Given the description of an element on the screen output the (x, y) to click on. 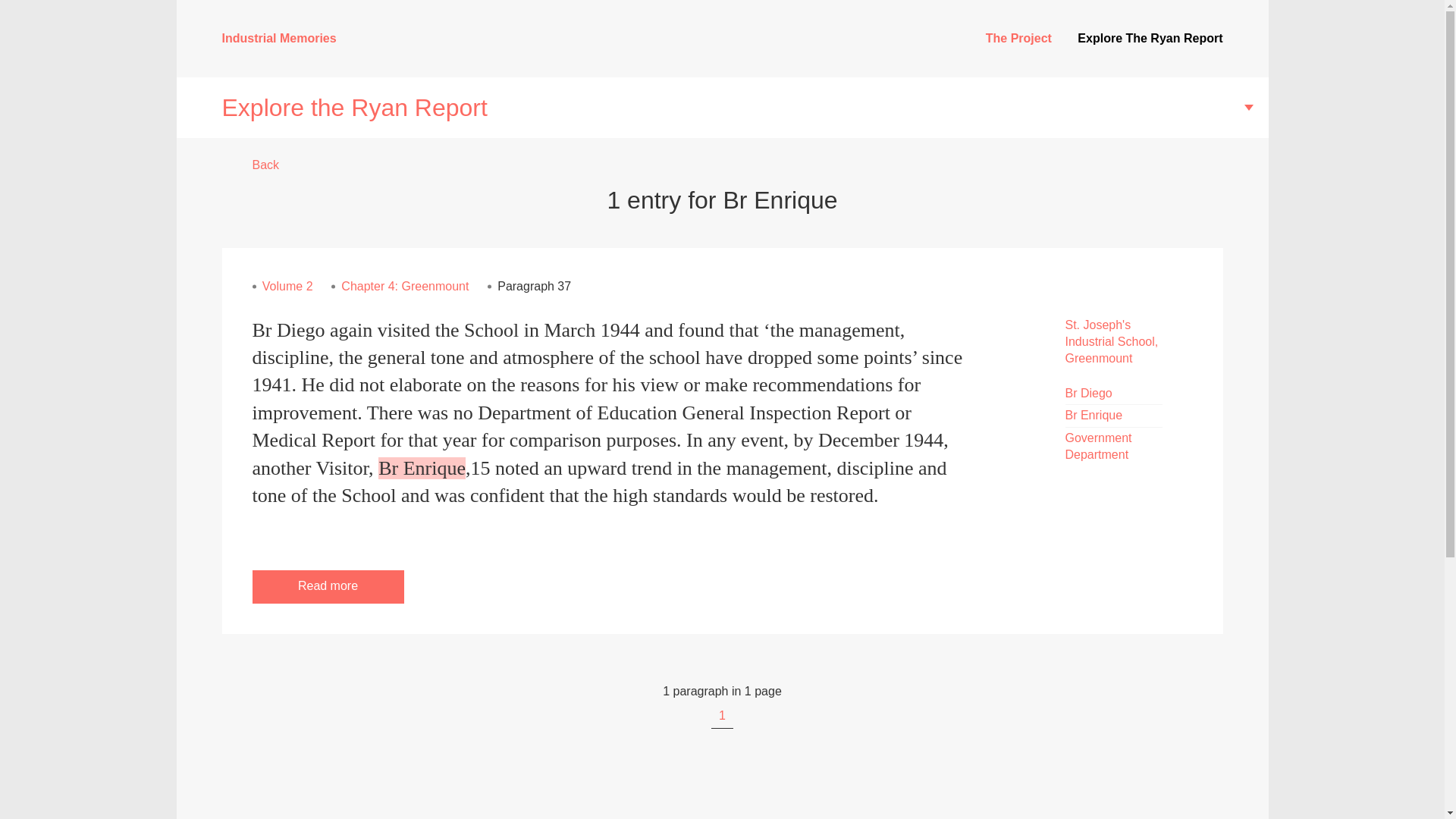
St. Joseph's Industrial School, Greenmount (1110, 341)
Volume 2 (287, 286)
Government Department (1097, 446)
Explore the Ryan Report (722, 107)
Br Enrique (1093, 414)
Industrial Memories (278, 38)
Back (257, 165)
Chapter 4: Greenmount (404, 286)
Explore The Ryan Report (1150, 38)
Br Diego (1088, 392)
Read more (327, 586)
The Project (1018, 38)
